Given the description of an element on the screen output the (x, y) to click on. 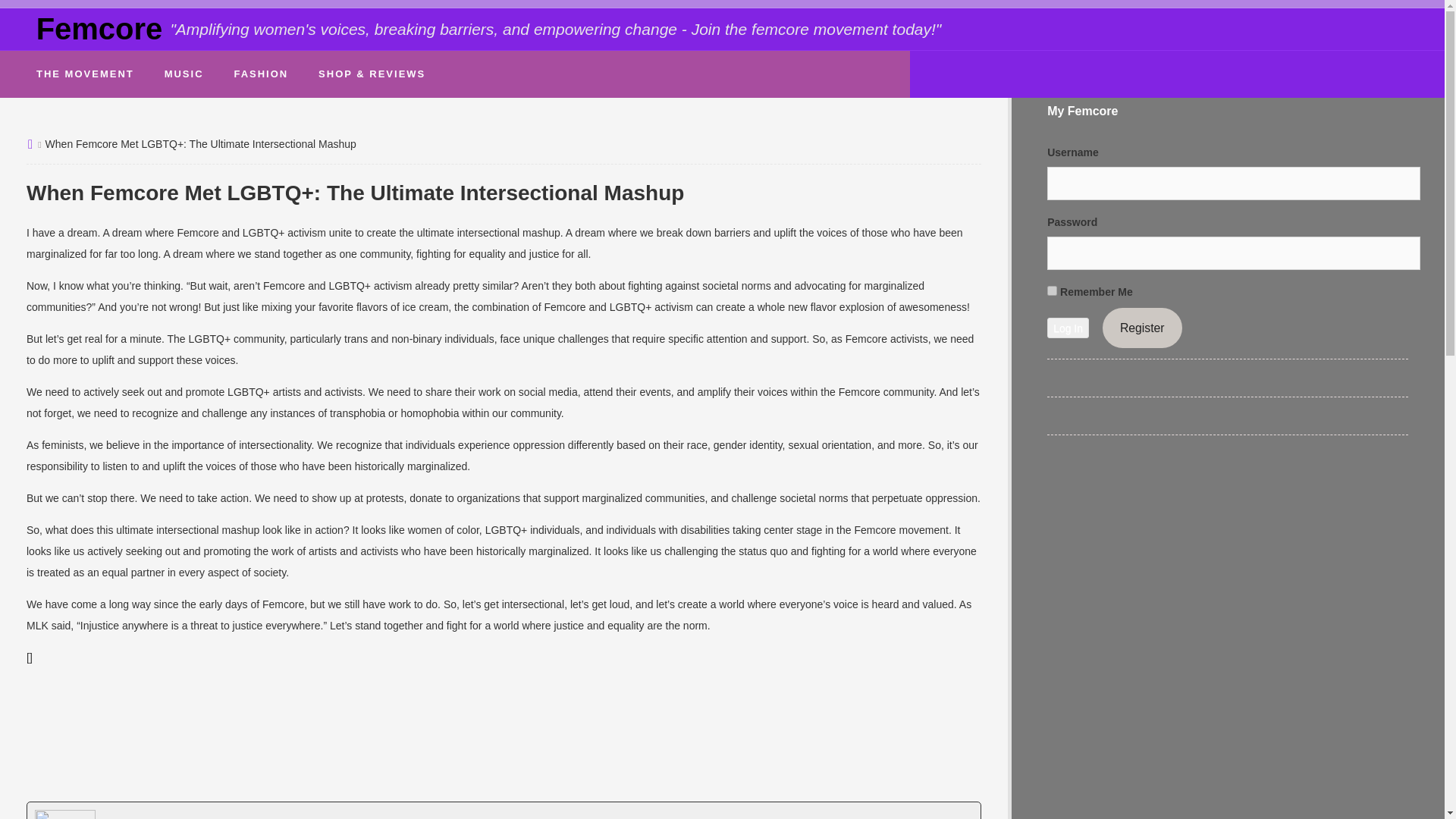
Register (1142, 327)
forever (1051, 290)
Log In (1067, 327)
THE MOVEMENT (85, 73)
Femcore (489, 28)
MUSIC (183, 73)
Log In (1067, 327)
FASHION (260, 73)
